Given the description of an element on the screen output the (x, y) to click on. 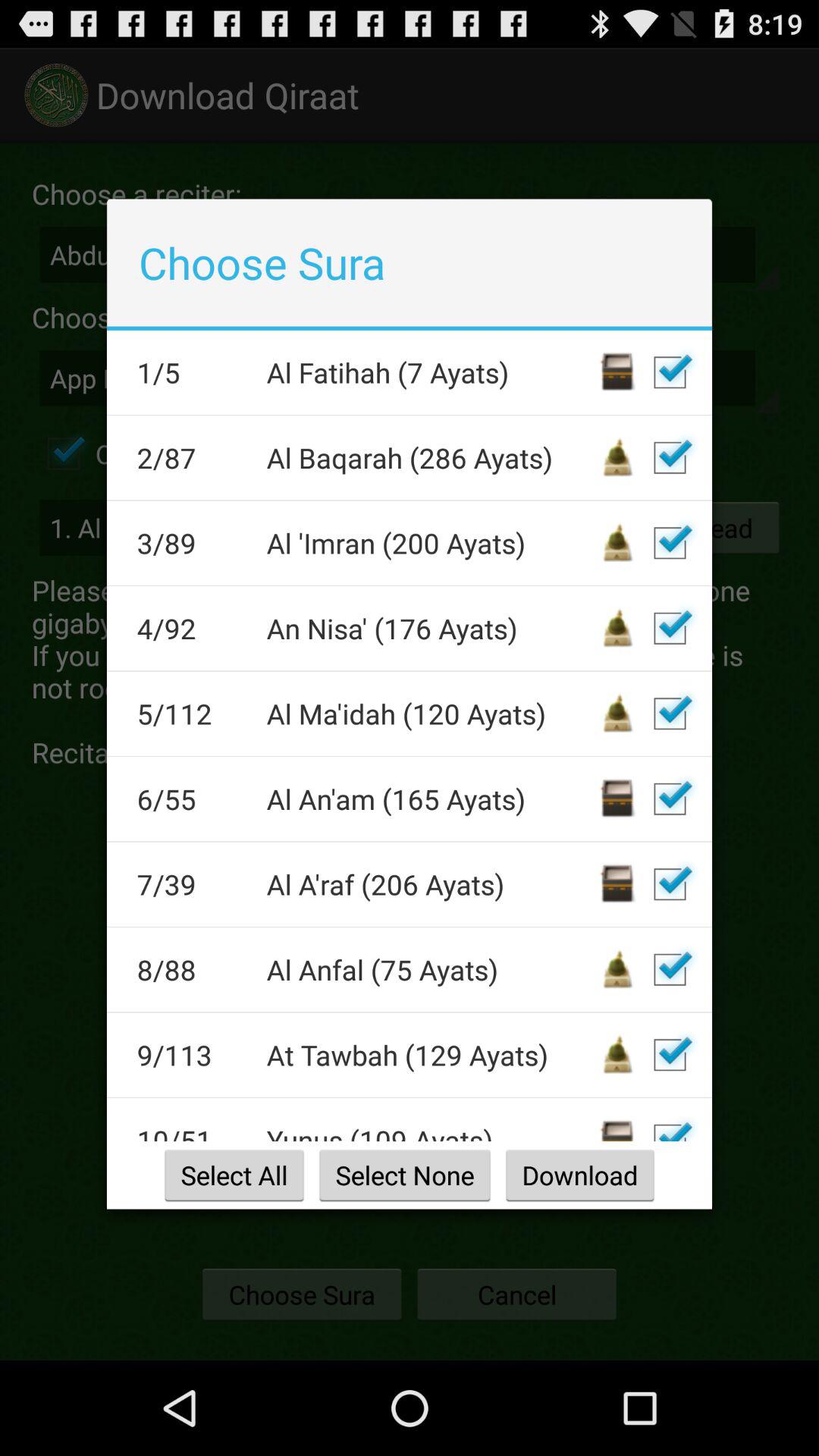
press app above 7/39 icon (191, 798)
